Given the description of an element on the screen output the (x, y) to click on. 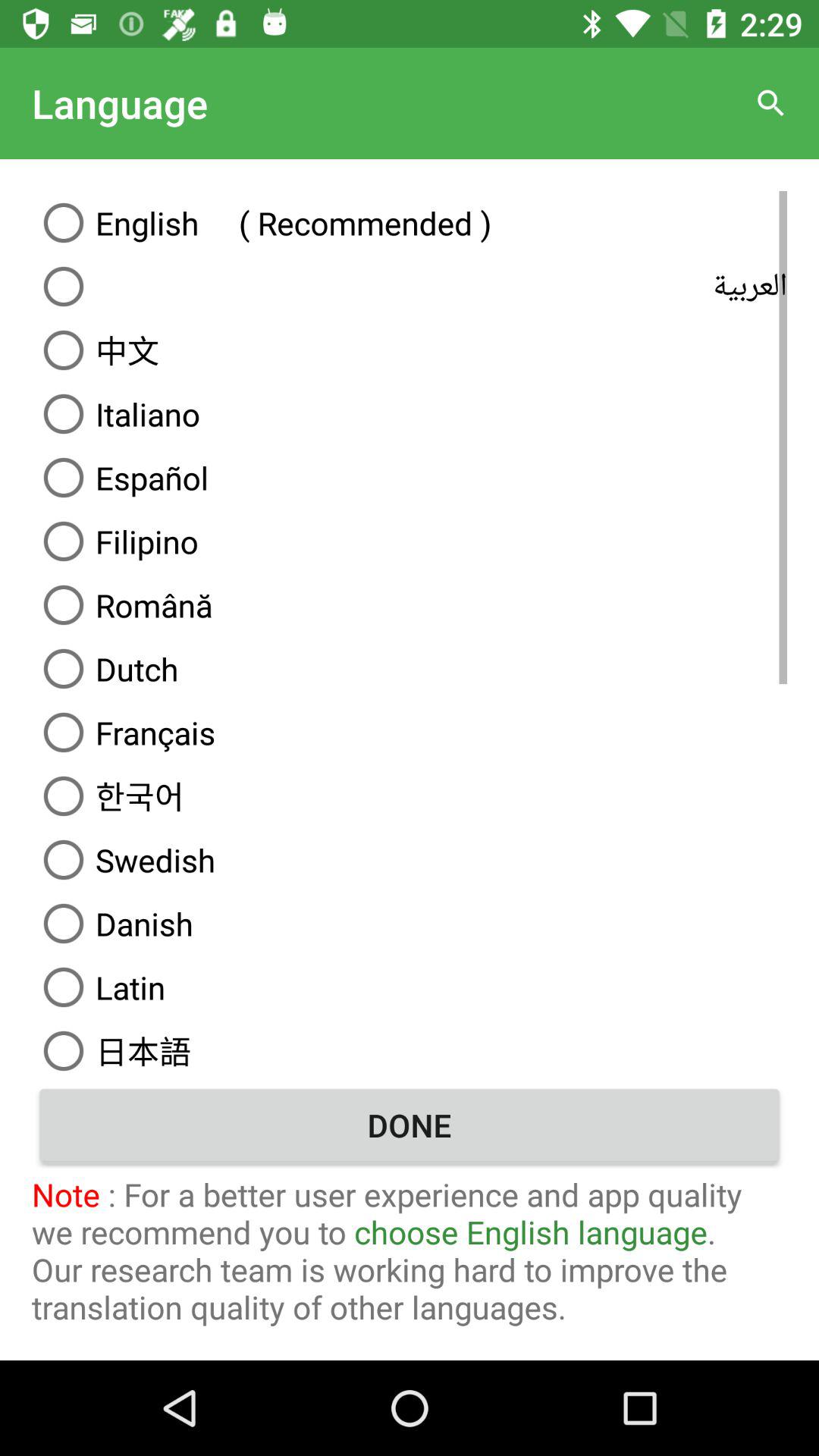
turn on the item below latin icon (409, 1048)
